Given the description of an element on the screen output the (x, y) to click on. 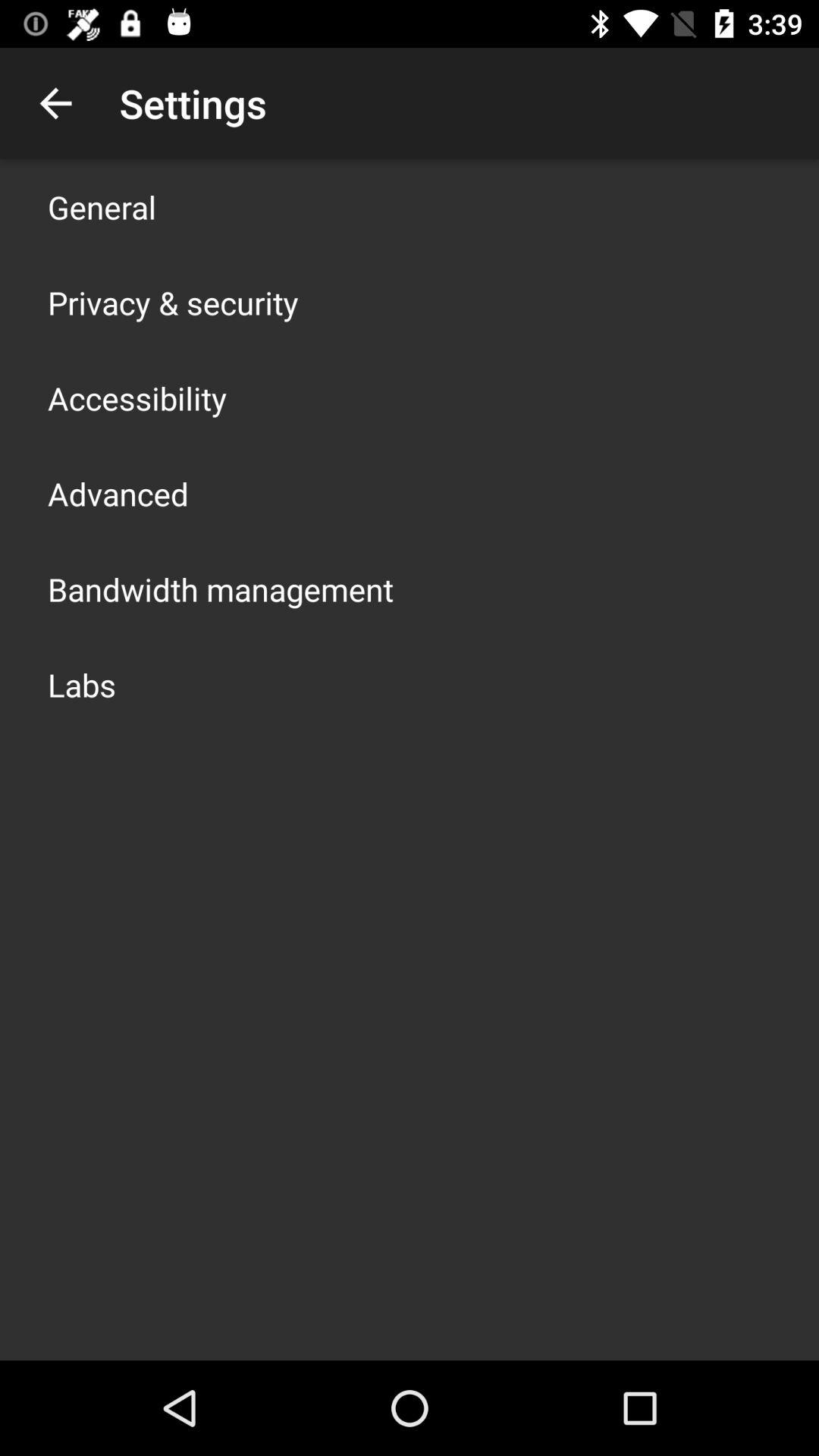
swipe until general icon (101, 206)
